Given the description of an element on the screen output the (x, y) to click on. 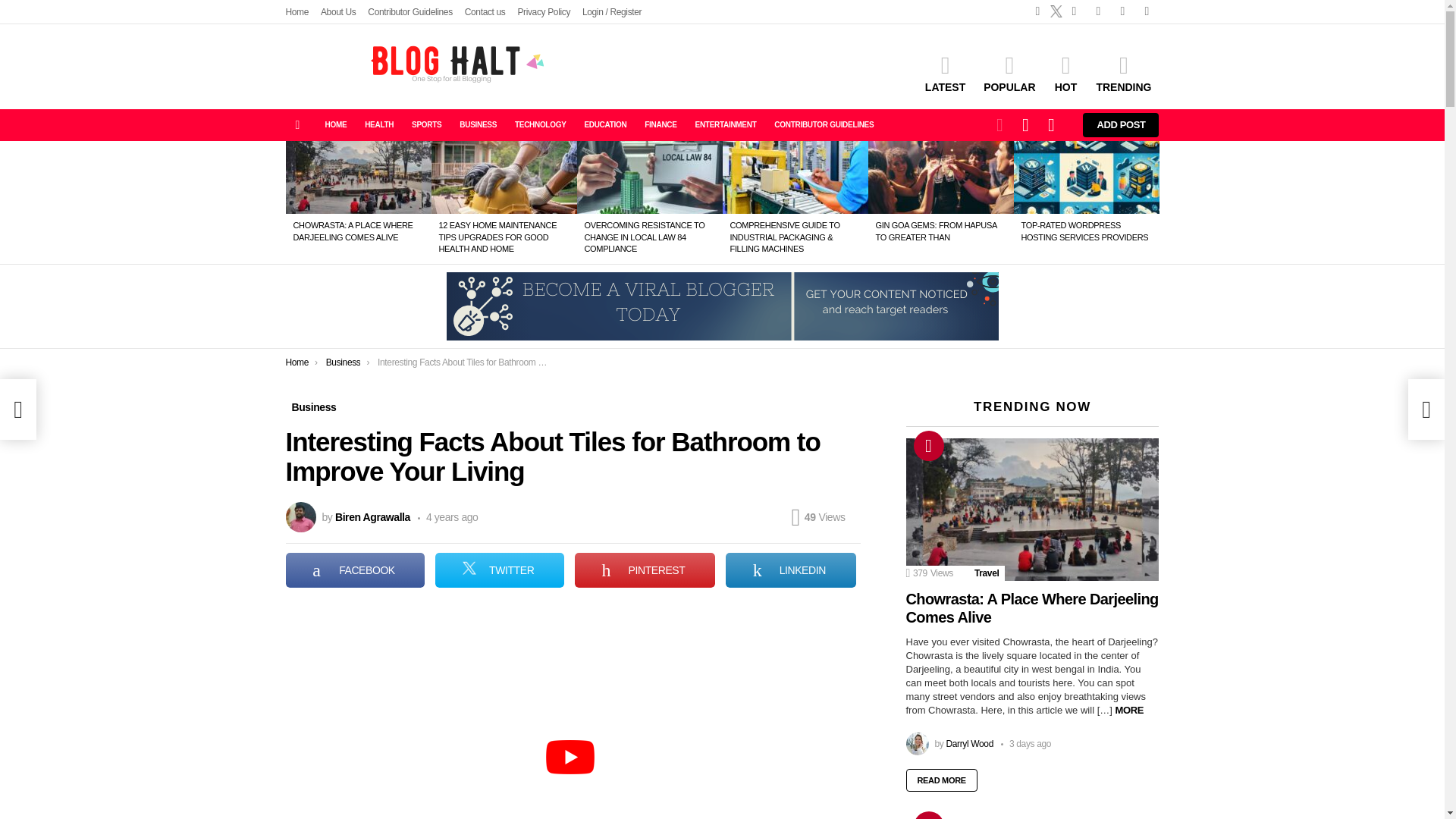
SPORTS (426, 124)
Top-rated WordPress Hosting Services Providers (1085, 176)
CONTRIBUTOR GUIDELINES (823, 124)
EDUCATION (604, 124)
Share on Twitter (499, 570)
Contributor Guidelines (409, 12)
TRENDING (1122, 73)
HOME (335, 124)
Gin Goa Gems: From Hapusa to Greater Than (940, 176)
HOT (1064, 73)
ENTERTAINMENT (725, 124)
Home (296, 12)
